Given the description of an element on the screen output the (x, y) to click on. 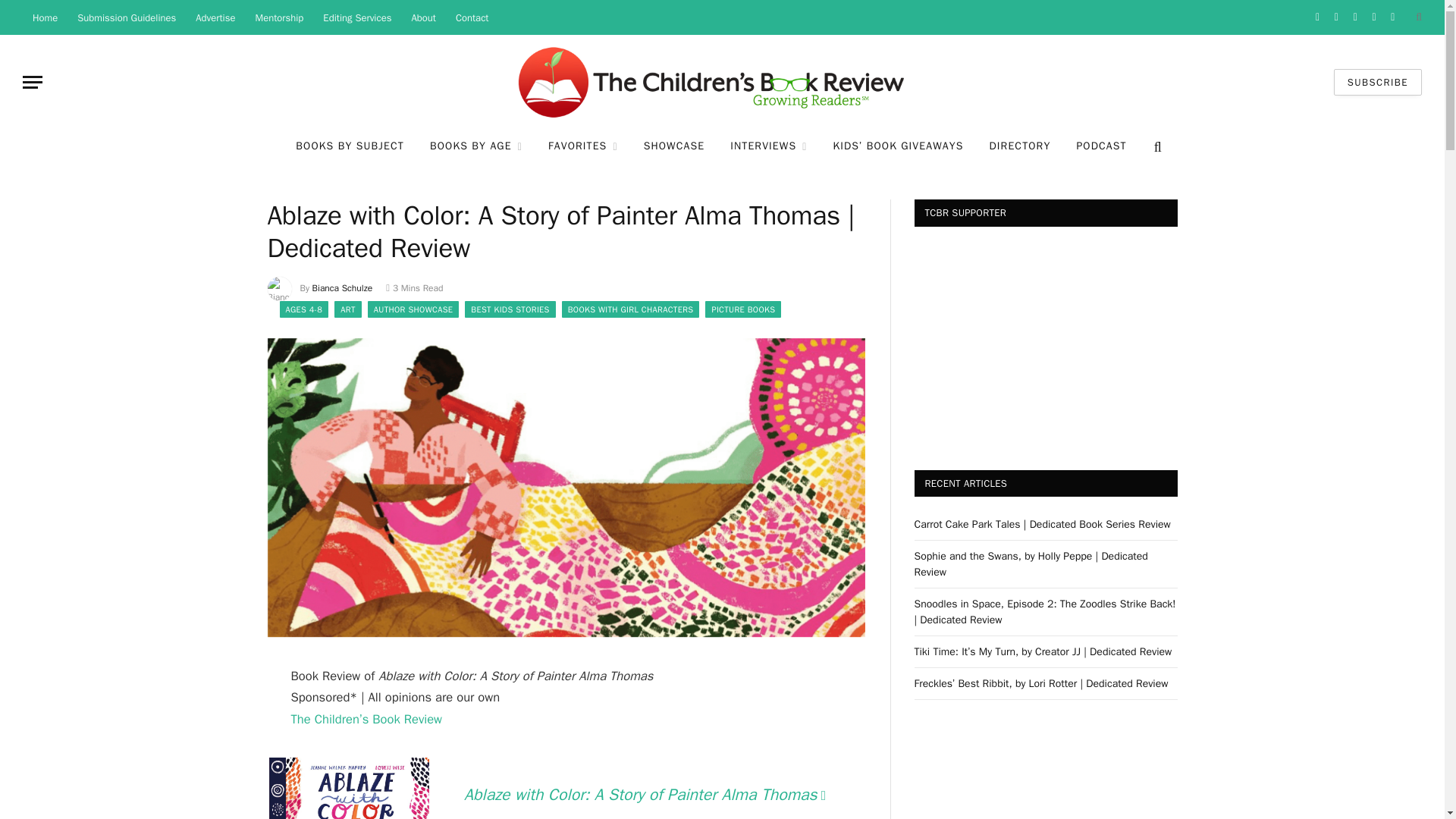
SUBSCRIBE (1377, 81)
The Children's Book Review (722, 82)
BOOKS BY AGE (475, 146)
Editing Services (357, 17)
Advertise (215, 17)
BOOKS BY SUBJECT (349, 146)
Posts by Bianca Schulze (342, 287)
FAVORITES (582, 146)
Home (44, 17)
Contact (472, 17)
Submission Guidelines (126, 17)
Mentorship (280, 17)
About (423, 17)
